Given the description of an element on the screen output the (x, y) to click on. 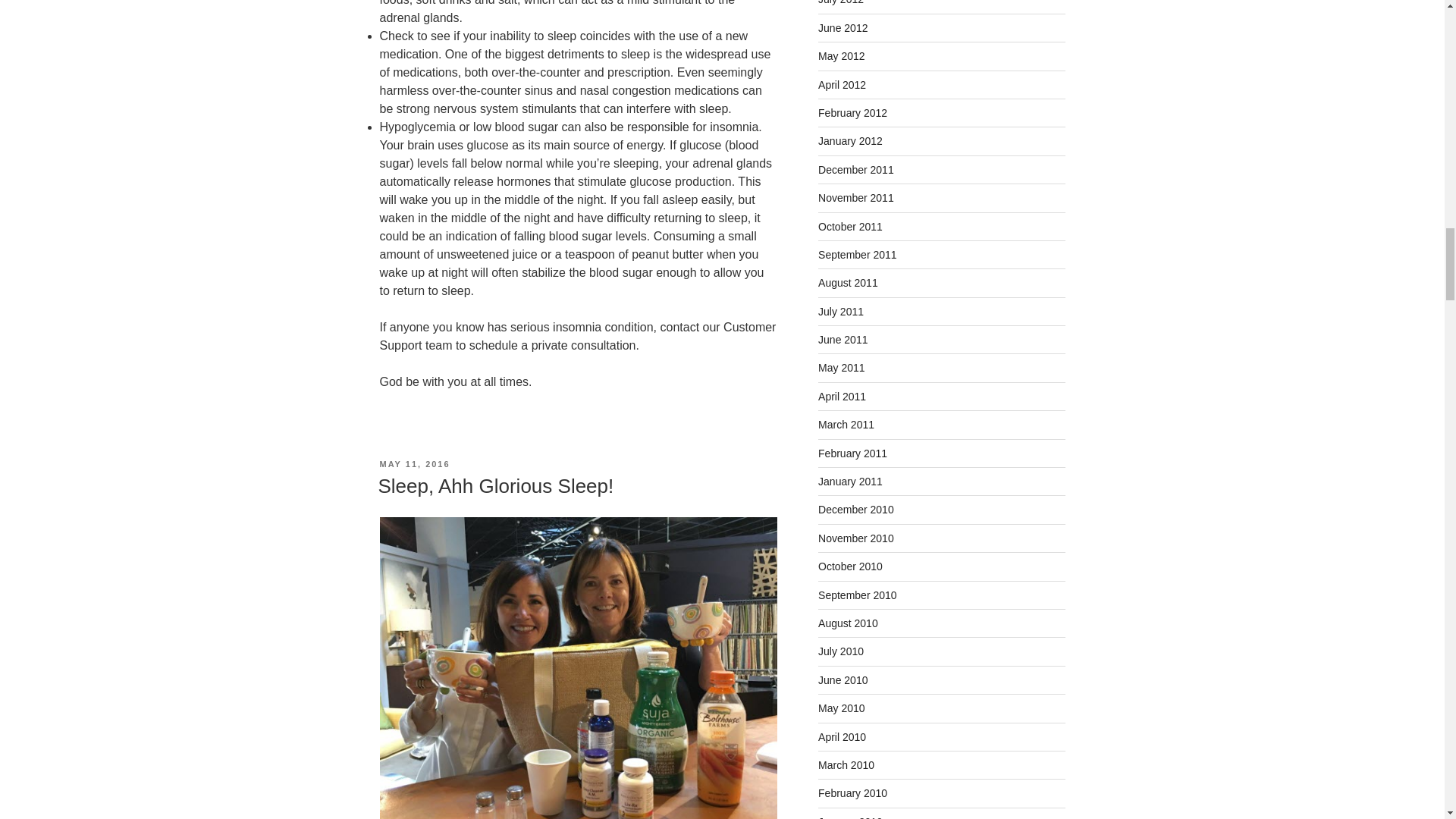
Sleep, Ahh Glorious Sleep! (494, 486)
Carolyn and LeAnn enjoying Detox Soup (577, 667)
MAY 11, 2016 (413, 463)
